Given the description of an element on the screen output the (x, y) to click on. 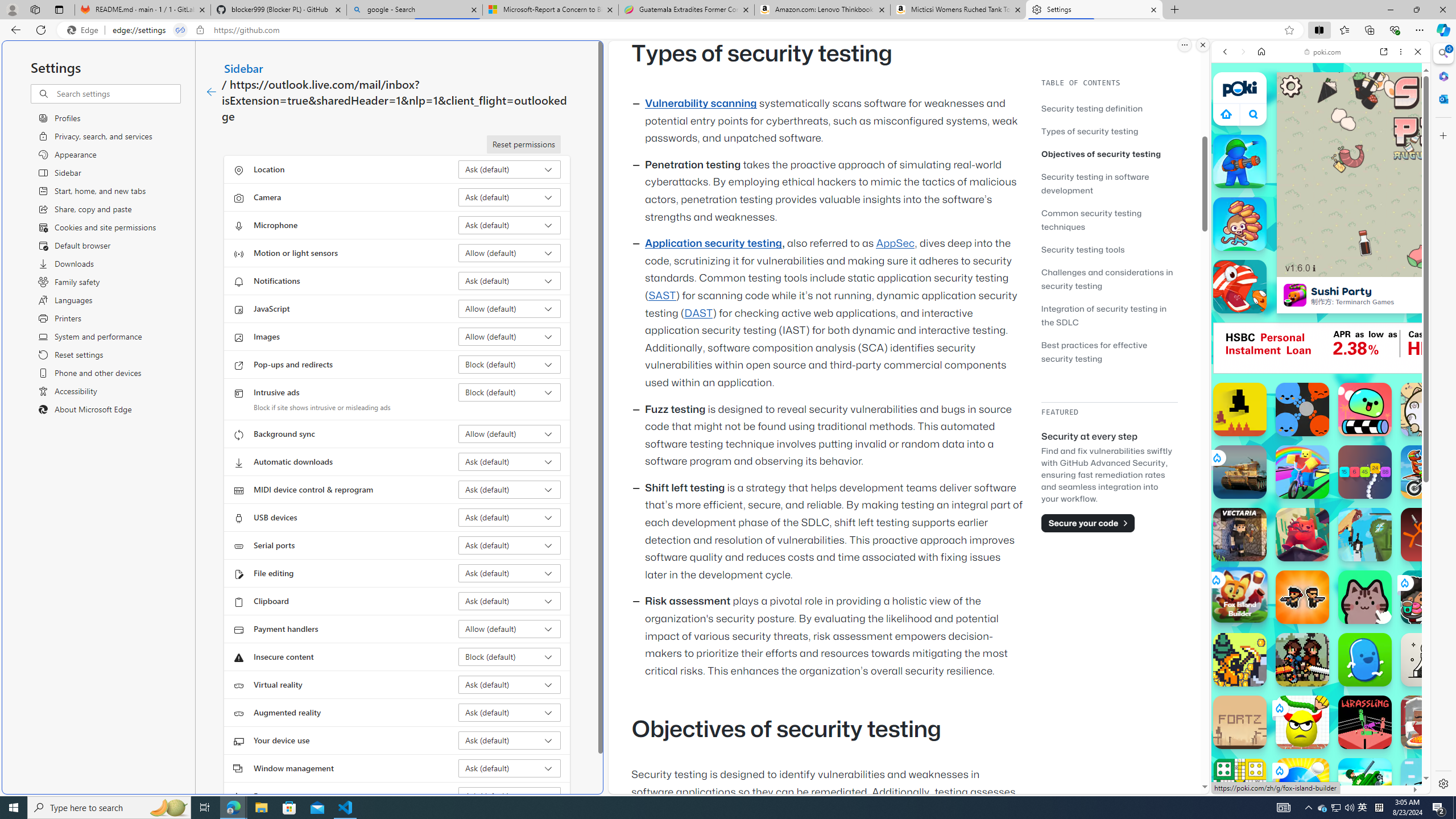
Rainbow Obby (1302, 471)
Fish Eat Fish Fish Eat Fish (1239, 286)
Blumgi Slime (1364, 409)
AppSec (895, 243)
Security testing tools (1109, 249)
Combat Reloaded (1349, 523)
Apple Knight: Fight (1302, 659)
USB devices Ask (default) (509, 517)
Catpad Catpad (1364, 597)
Fonts Ask (default) (509, 796)
